Given the description of an element on the screen output the (x, y) to click on. 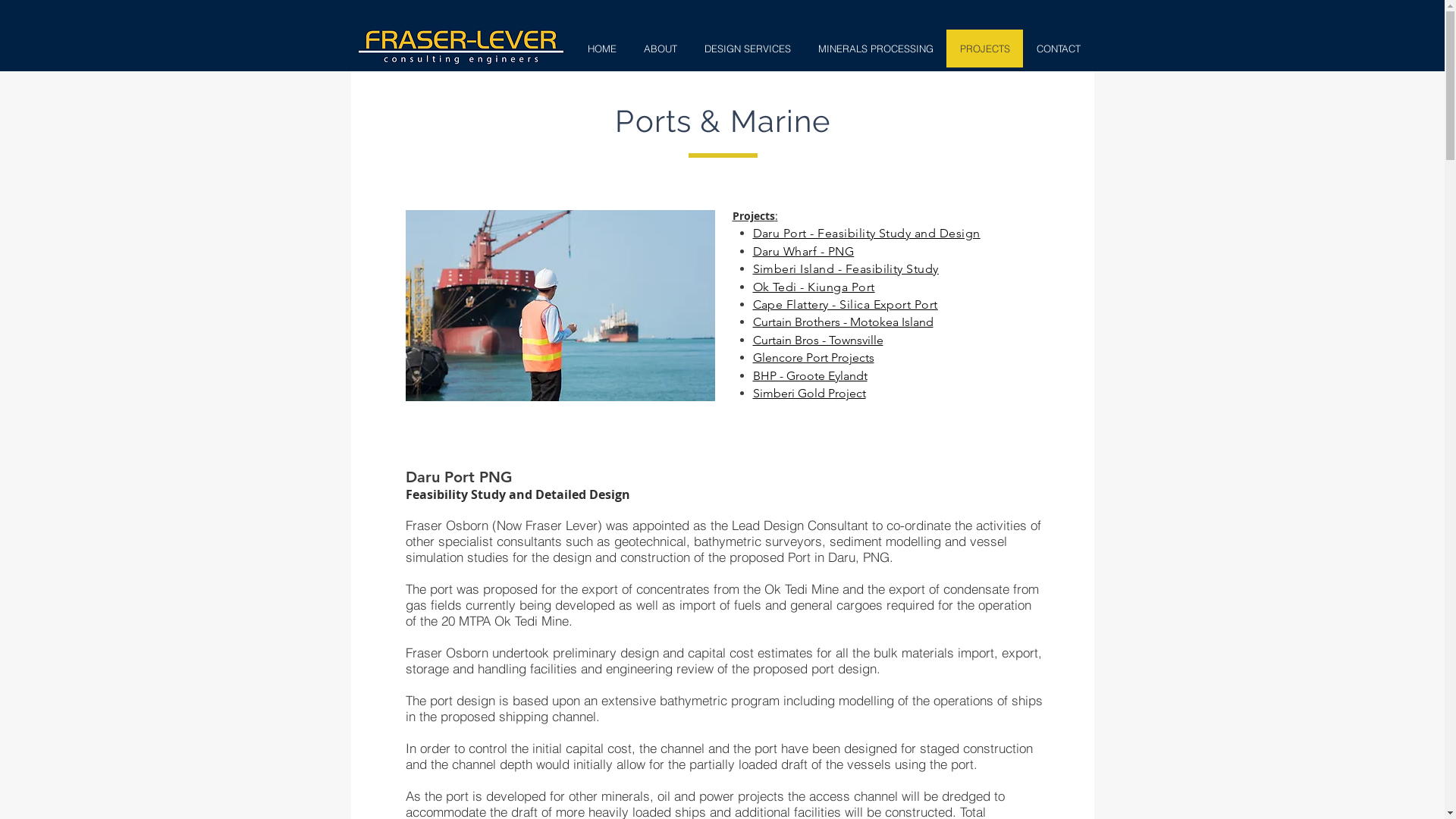
CONTACT Element type: text (1057, 48)
Glencore Port Projects Element type: text (812, 356)
Cape Flattery - Silica Export Port Element type: text (844, 303)
DESIGN SERVICES Element type: text (746, 48)
Daru Port - Feasibility Study and Design Element type: text (865, 232)
PROJECTS Element type: text (984, 48)
Curtain Brothers - Motokea Island Element type: text (842, 321)
HOME Element type: text (602, 48)
BHP - Groote Eylandt Element type: text (809, 374)
Daru Wharf - PNG Element type: text (802, 250)
Simberi Island - Feasibility Study Element type: text (845, 268)
Simberi Gold Project Element type: text (808, 392)
Ok Tedi - Kiunga Port Element type: text (813, 286)
MINERALS PROCESSING Element type: text (874, 48)
Curtain Bros - Townsville Element type: text (817, 339)
ABOUT Element type: text (659, 48)
